Given the description of an element on the screen output the (x, y) to click on. 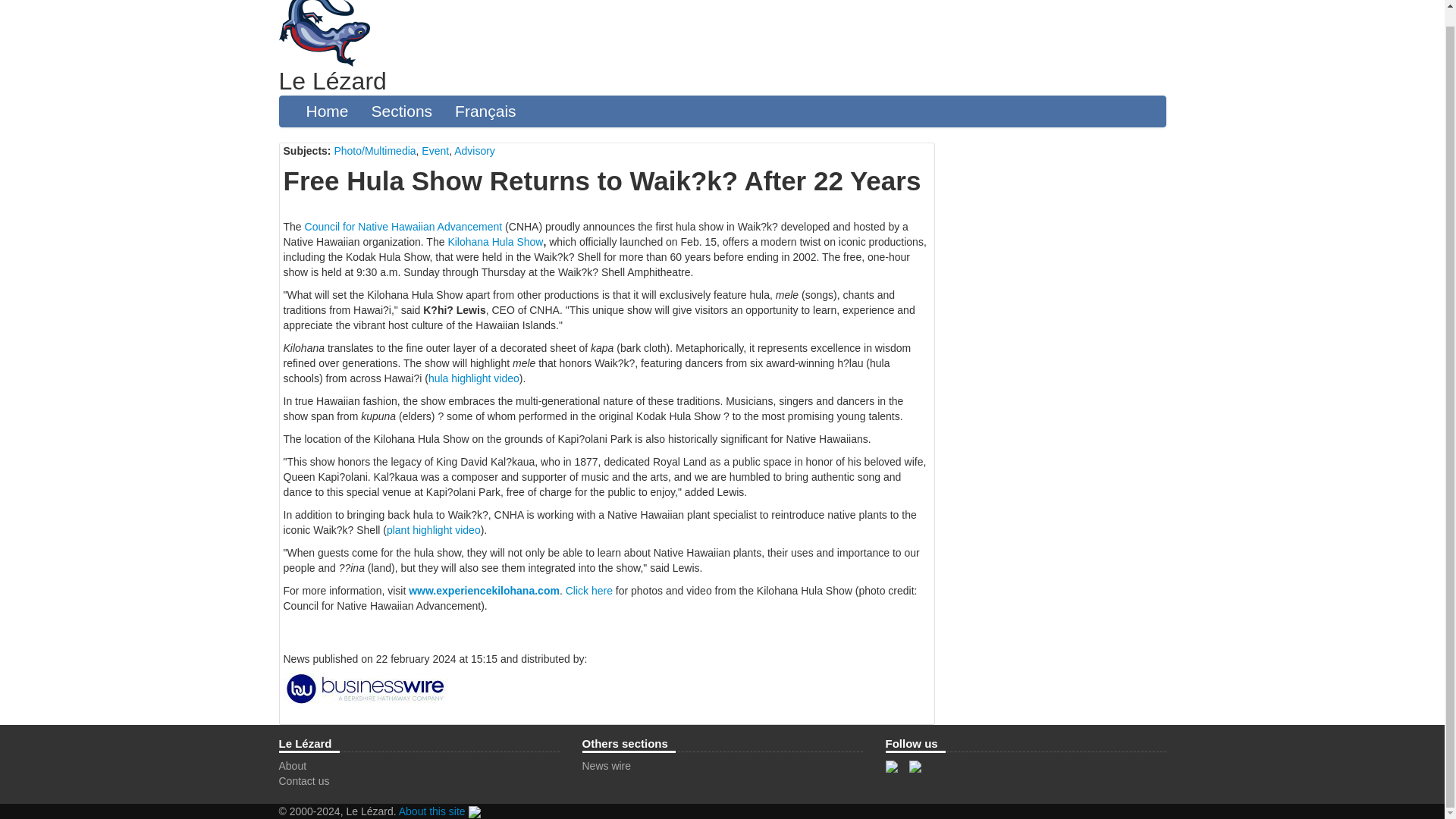
www.experiencekilohana.com (484, 590)
plant highlight video (433, 530)
About (293, 766)
About this site (431, 811)
Event (435, 150)
News wire (606, 766)
Click here (589, 590)
Sections (401, 111)
Contact us (304, 780)
hula highlight video (473, 378)
Advisory (474, 150)
Council for Native Hawaiian Advancement (403, 226)
Home (326, 111)
Kilohana Hula Show (494, 241)
